Given the description of an element on the screen output the (x, y) to click on. 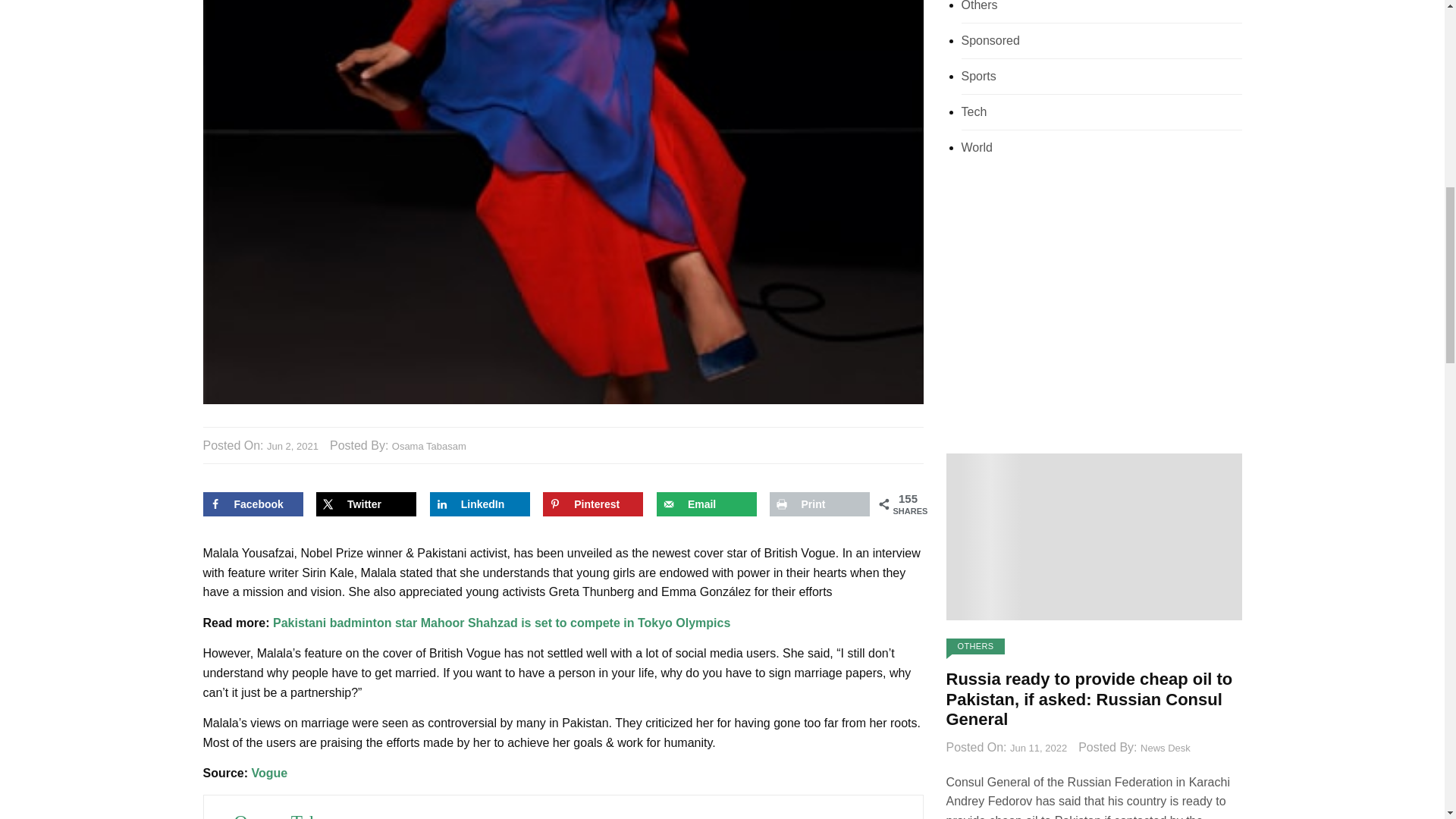
Facebook (252, 504)
Email (706, 504)
Pinterest (593, 504)
Print (819, 504)
Share on LinkedIn (479, 504)
Share on Facebook (252, 504)
LinkedIn (479, 504)
Save to Pinterest (593, 504)
Send over email (706, 504)
Osama Tabasam (428, 446)
